Given the description of an element on the screen output the (x, y) to click on. 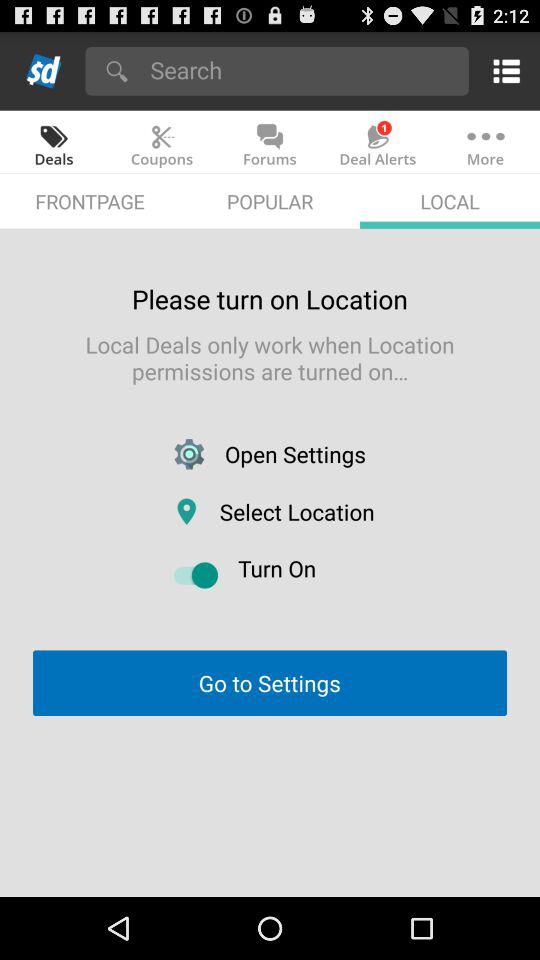
select the drop down (302, 69)
